Given the description of an element on the screen output the (x, y) to click on. 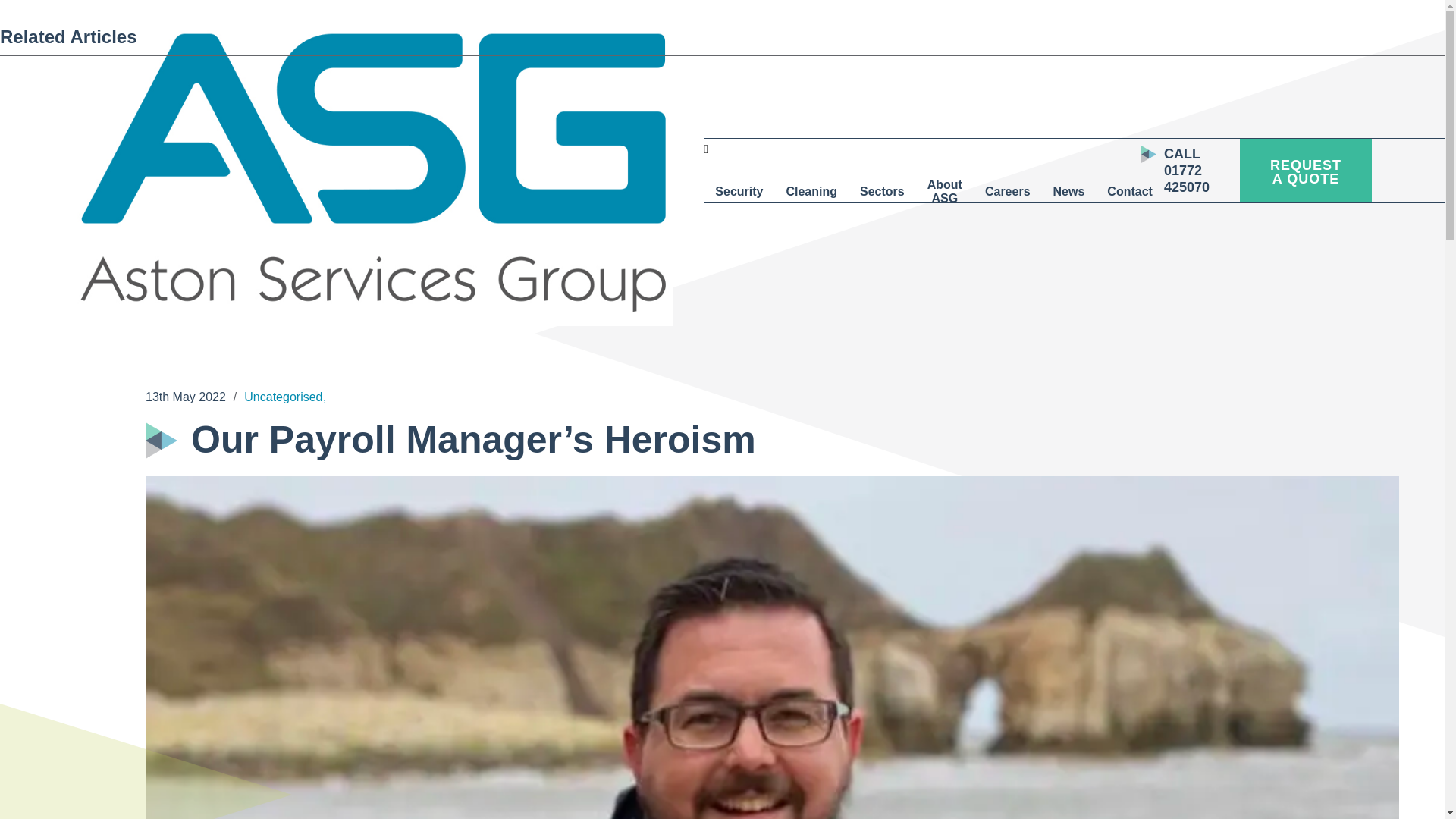
Cleaning (811, 191)
CALL 01772 425070 (1186, 170)
Careers (1008, 191)
Sectors (881, 191)
Contact (1129, 191)
Security (738, 191)
About ASG (944, 191)
REQUEST A QUOTE (1305, 170)
Uncategorised (282, 396)
